Given the description of an element on the screen output the (x, y) to click on. 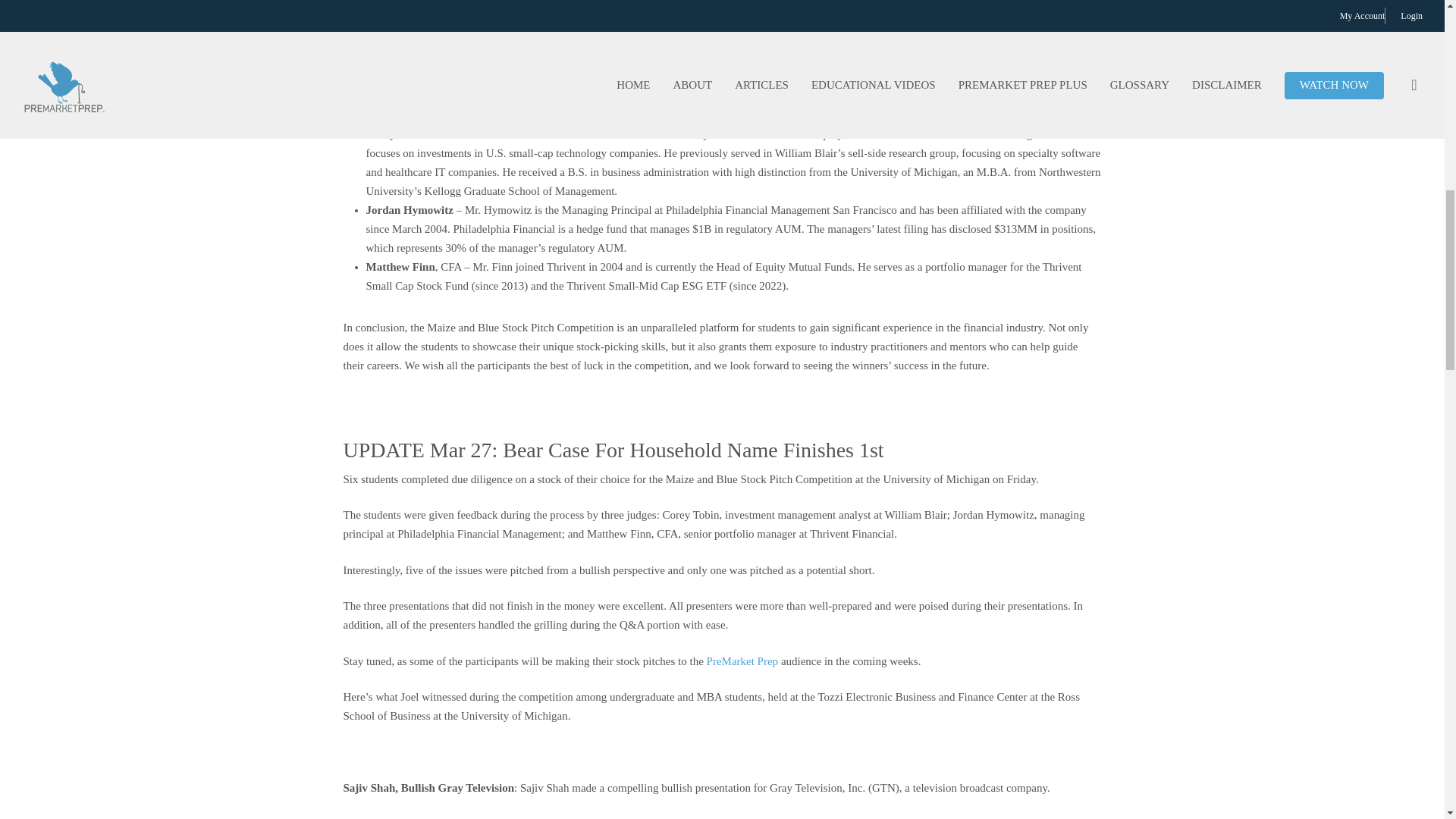
PreMarket Prep (742, 661)
